Given the description of an element on the screen output the (x, y) to click on. 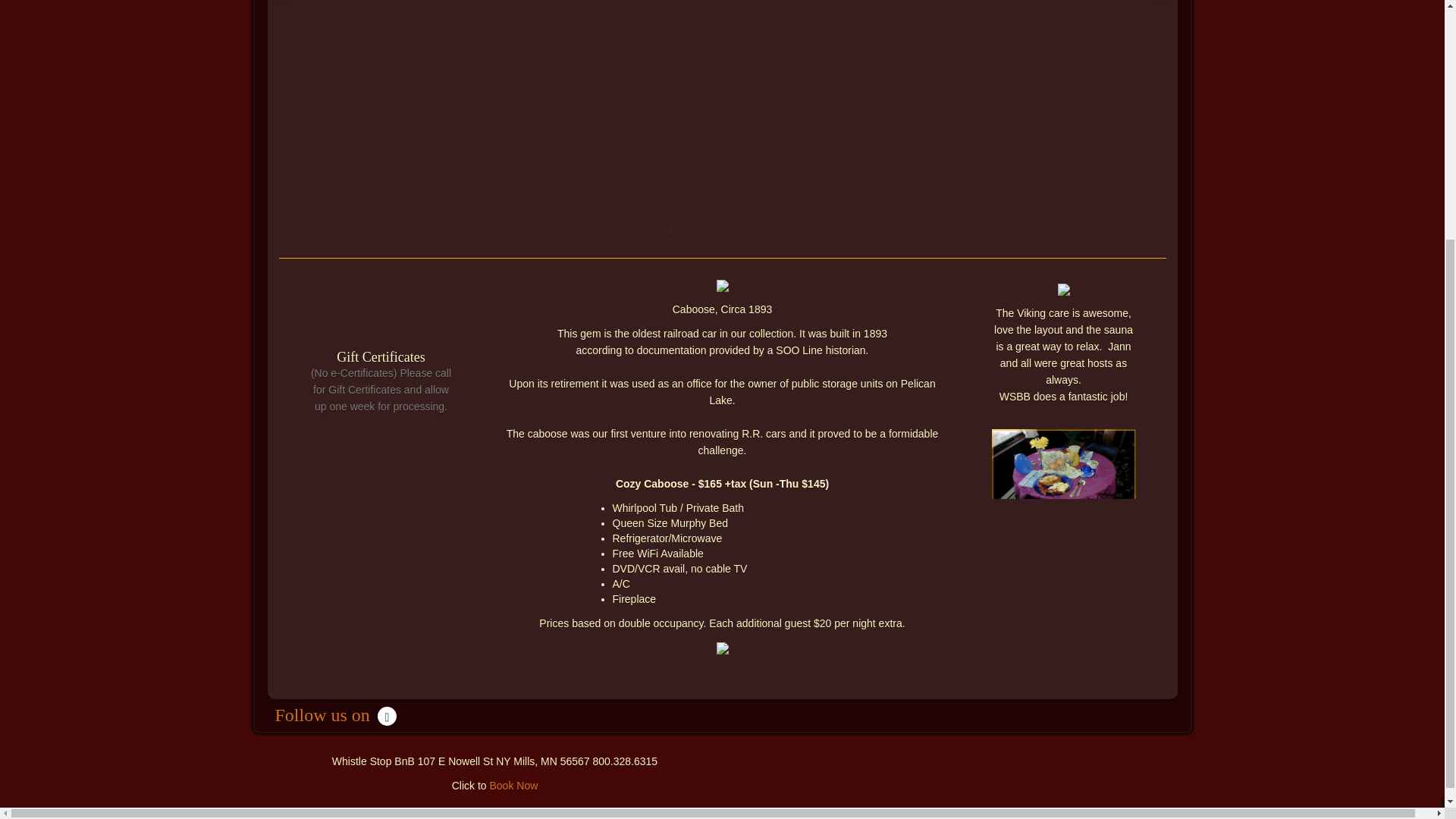
1 (671, 229)
Previous (281, 4)
9 (762, 229)
3 (694, 229)
2 (682, 229)
8 (749, 229)
Next (1161, 4)
5 (716, 229)
6 (727, 229)
7 (739, 229)
